Given the description of an element on the screen output the (x, y) to click on. 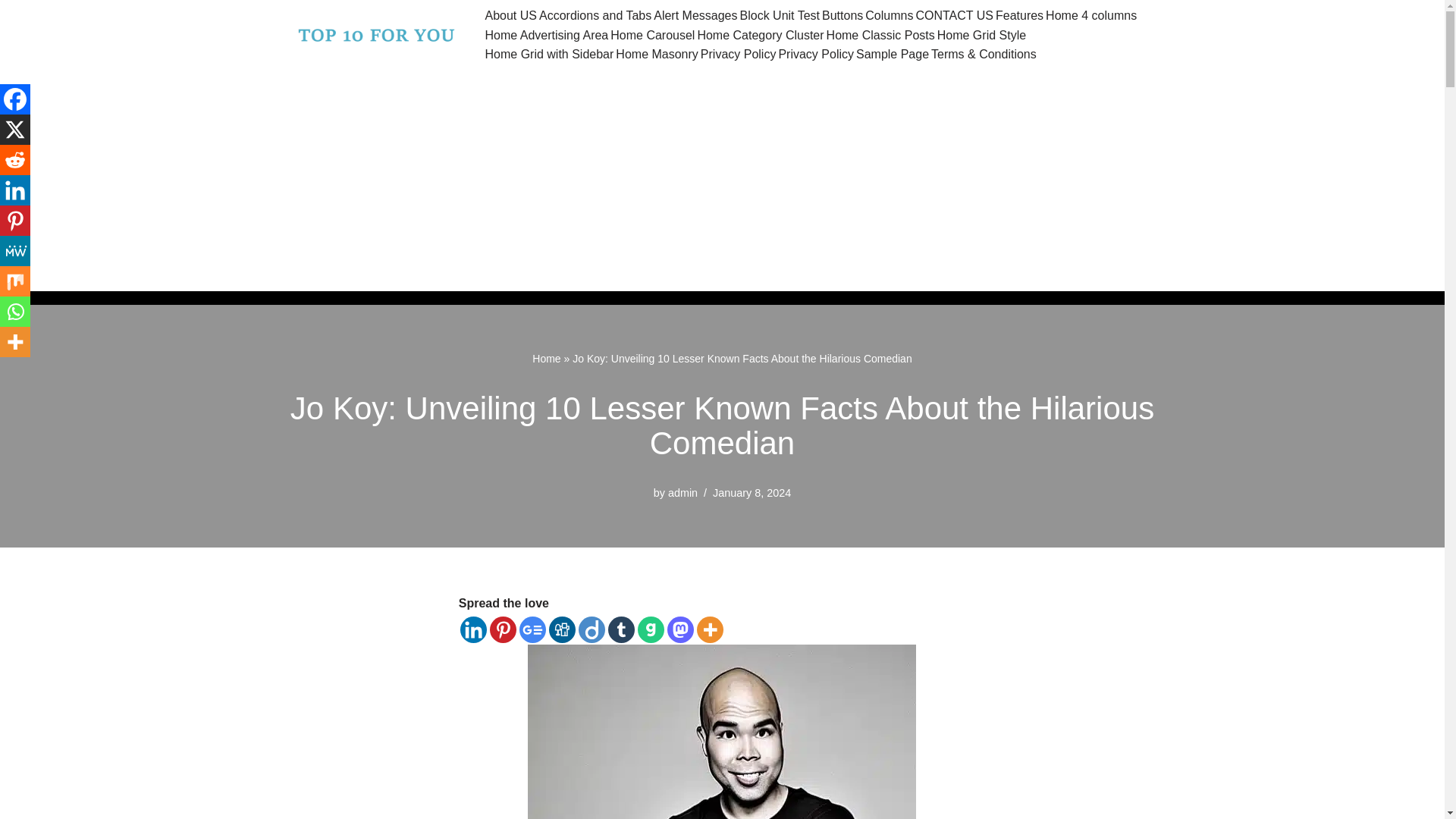
Home Grid with Sidebar (549, 54)
X (15, 129)
More (710, 629)
Home Advertising Area (546, 35)
Columns (888, 15)
Home Classic Posts (880, 35)
Block Unit Test (780, 15)
Gab (650, 629)
Linkedin (473, 629)
About US (510, 15)
